Given the description of an element on the screen output the (x, y) to click on. 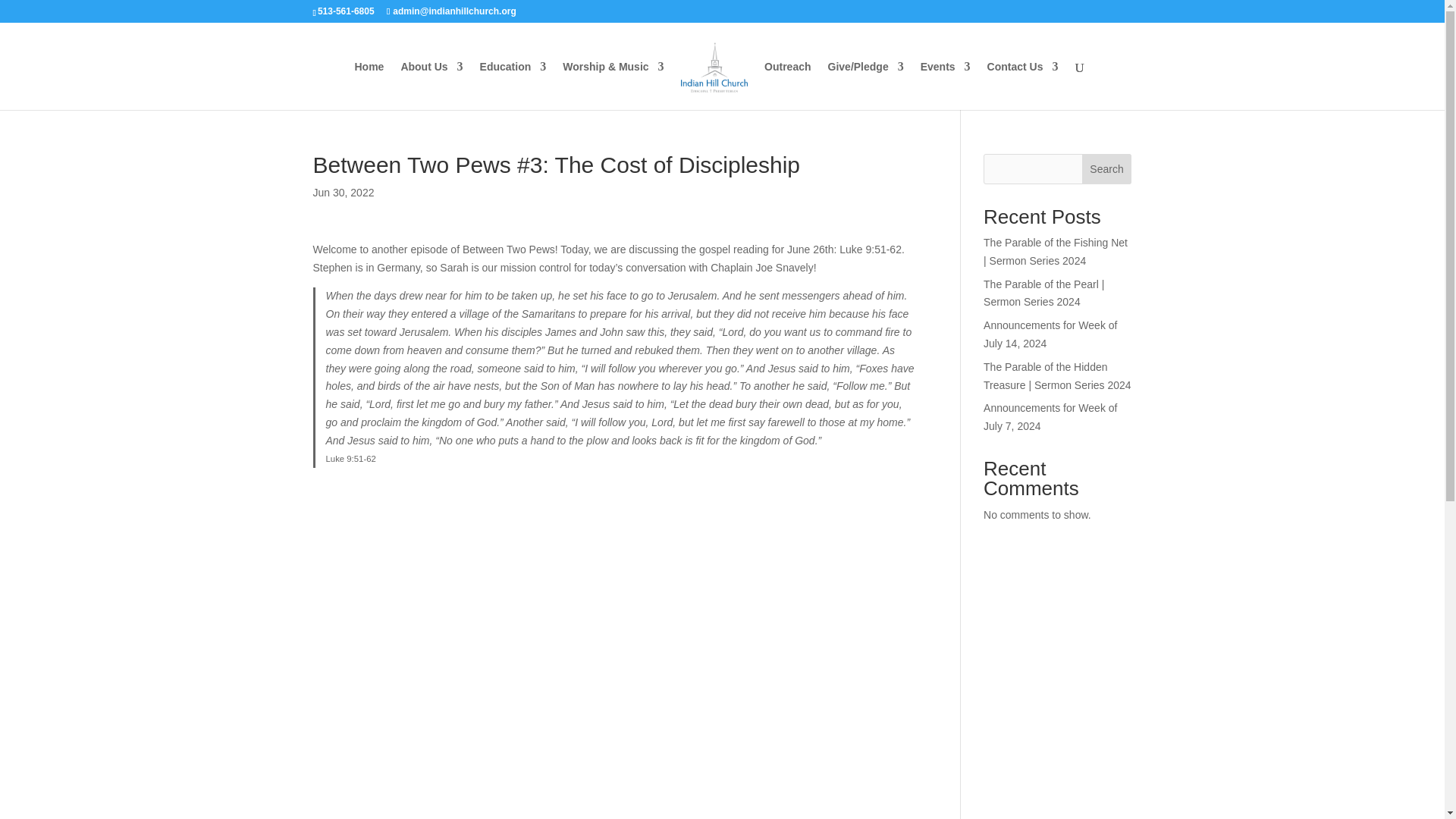
Contact Us (1022, 85)
Education (513, 85)
About Us (431, 85)
Outreach (787, 85)
Events (945, 85)
